Given the description of an element on the screen output the (x, y) to click on. 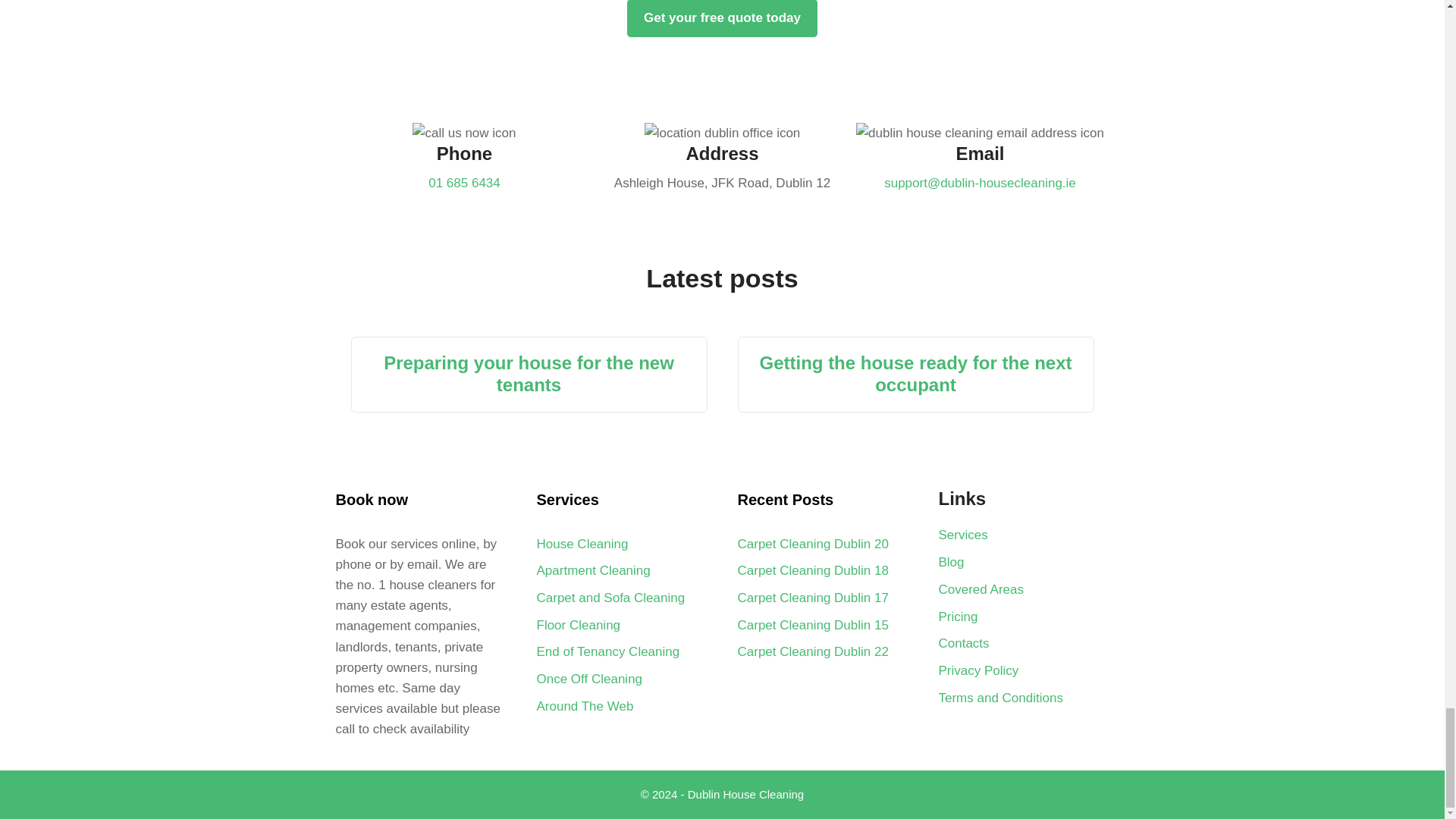
Getting The House Ready For The Next Occupant (914, 373)
01 685 6434 (464, 183)
Preparing Your House For The New Tenants (529, 373)
Get your free quote today (722, 18)
Get your free quote today (722, 18)
